Given the description of an element on the screen output the (x, y) to click on. 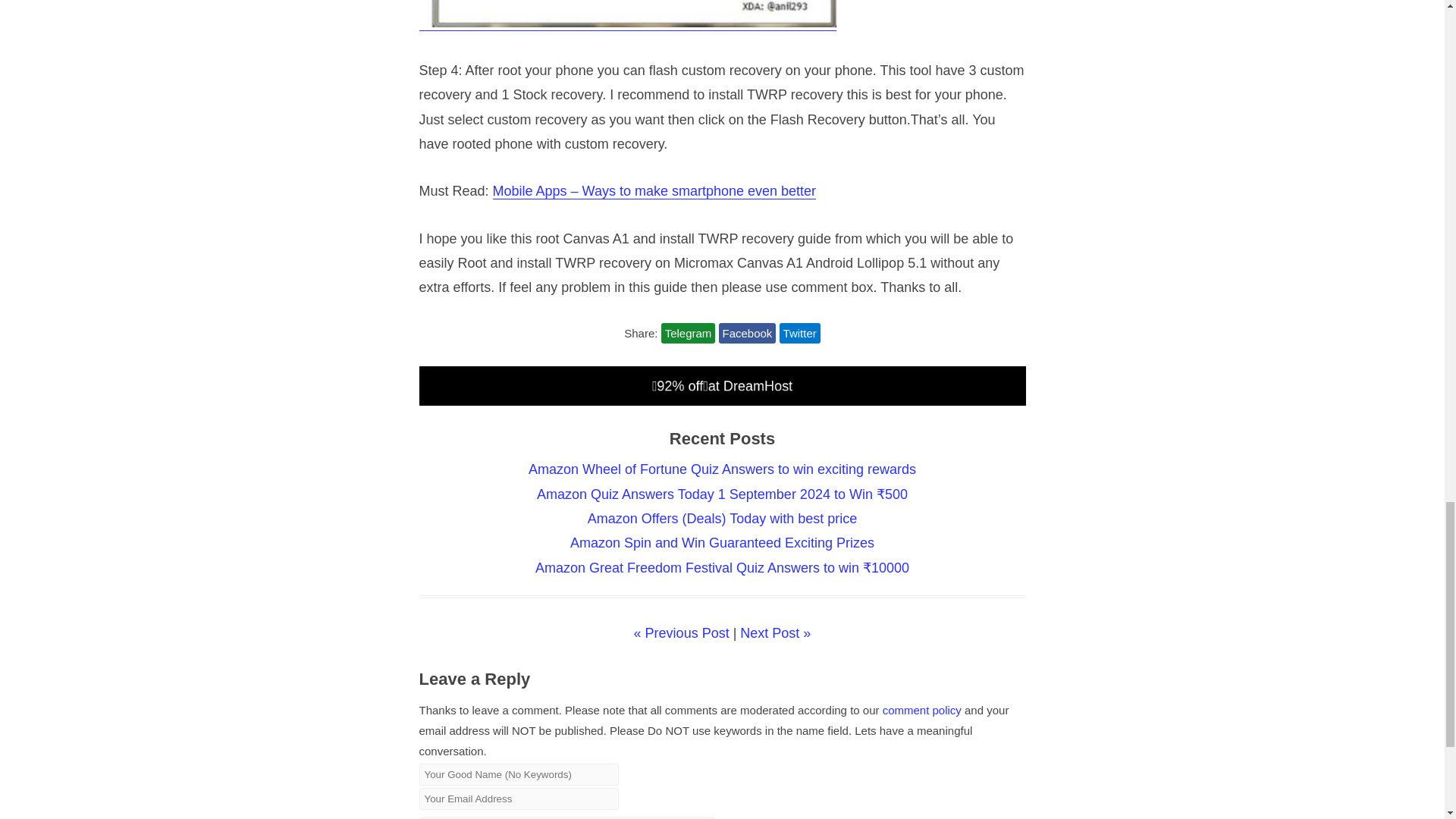
Share on Telegram (688, 332)
Facebook (747, 332)
Amazon Spin and Win Guaranteed Exciting Prizes (722, 542)
Share on Facebook (747, 332)
Root-and-install-TWRP-recovery-on-Micromax-Canvas-A1 (627, 13)
comment policy (921, 709)
Twitter (799, 332)
Telegram (688, 332)
Comment Policy (921, 709)
Amazon Wheel of Fortune Quiz Answers to win exciting rewards (721, 468)
